Given the description of an element on the screen output the (x, y) to click on. 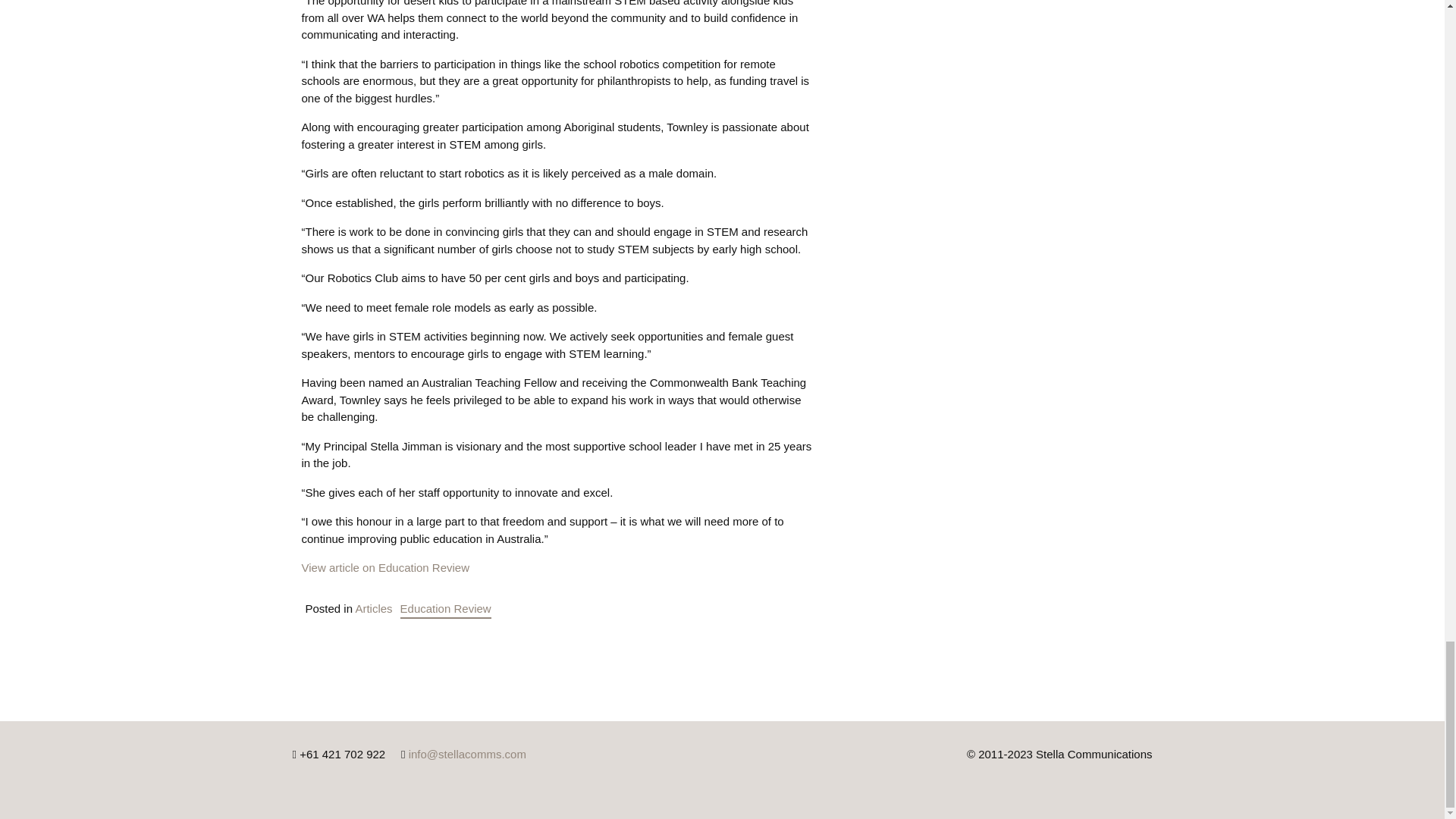
Education Review (446, 608)
View article on Education Review (385, 567)
Articles (373, 608)
